Given the description of an element on the screen output the (x, y) to click on. 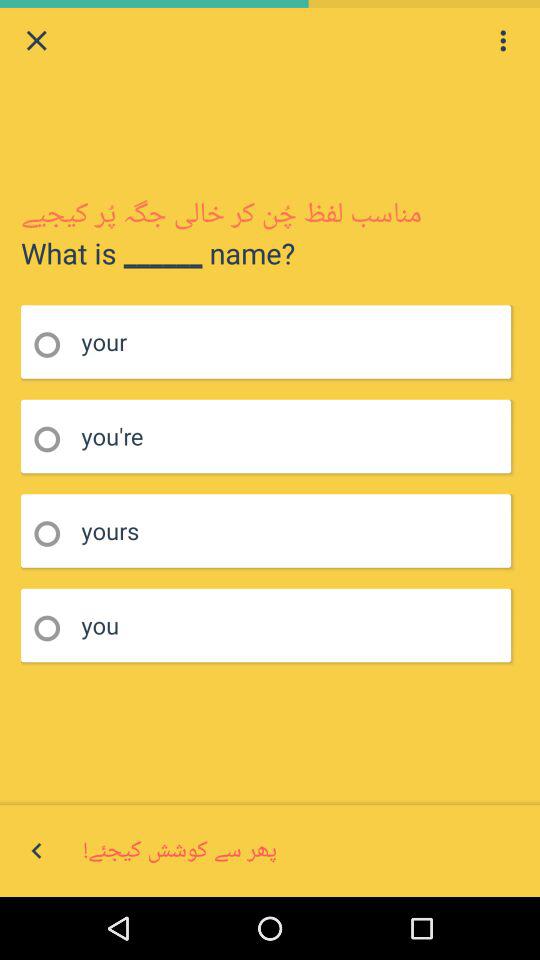
radio button (53, 344)
